Given the description of an element on the screen output the (x, y) to click on. 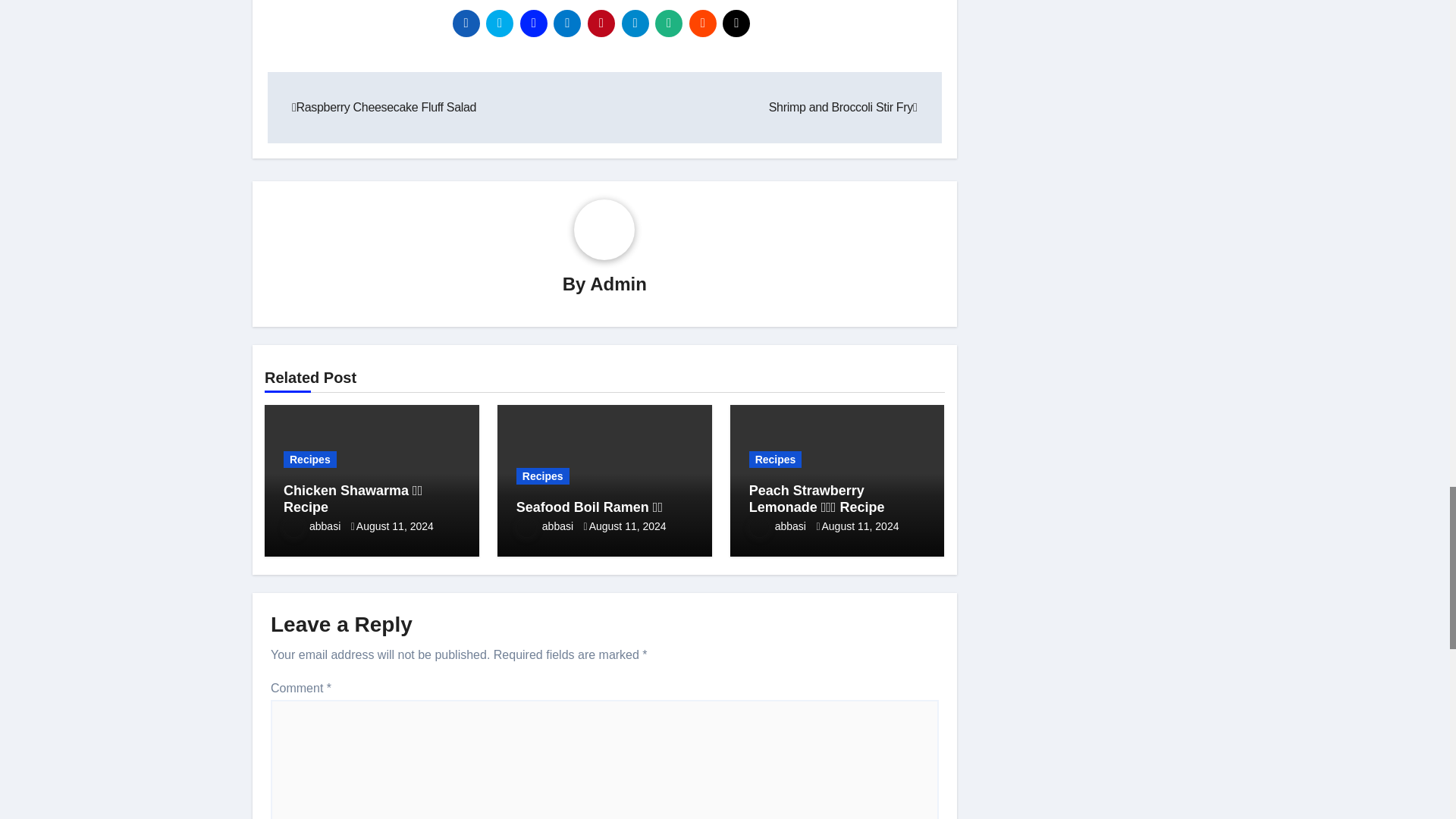
Shrimp and Broccoli Stir Fry (842, 106)
Raspberry Cheesecake Fluff Salad (384, 106)
Recipes (542, 475)
abbasi (311, 526)
August 11, 2024 (394, 526)
Admin (617, 283)
Recipes (309, 459)
